Given the description of an element on the screen output the (x, y) to click on. 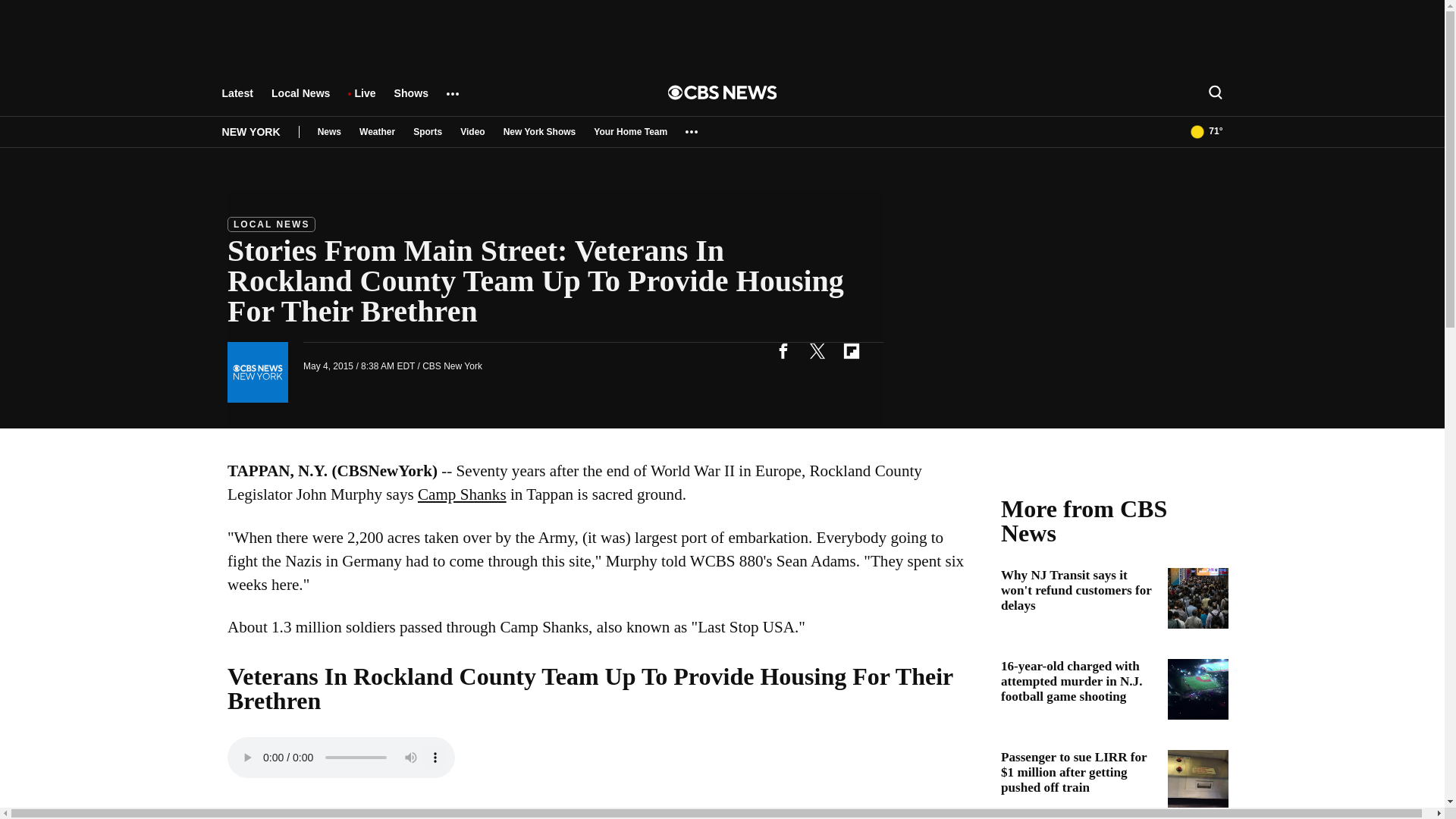
twitter (816, 350)
Latest (236, 100)
Local News (300, 100)
facebook (782, 350)
flipboard (850, 350)
